Given the description of an element on the screen output the (x, y) to click on. 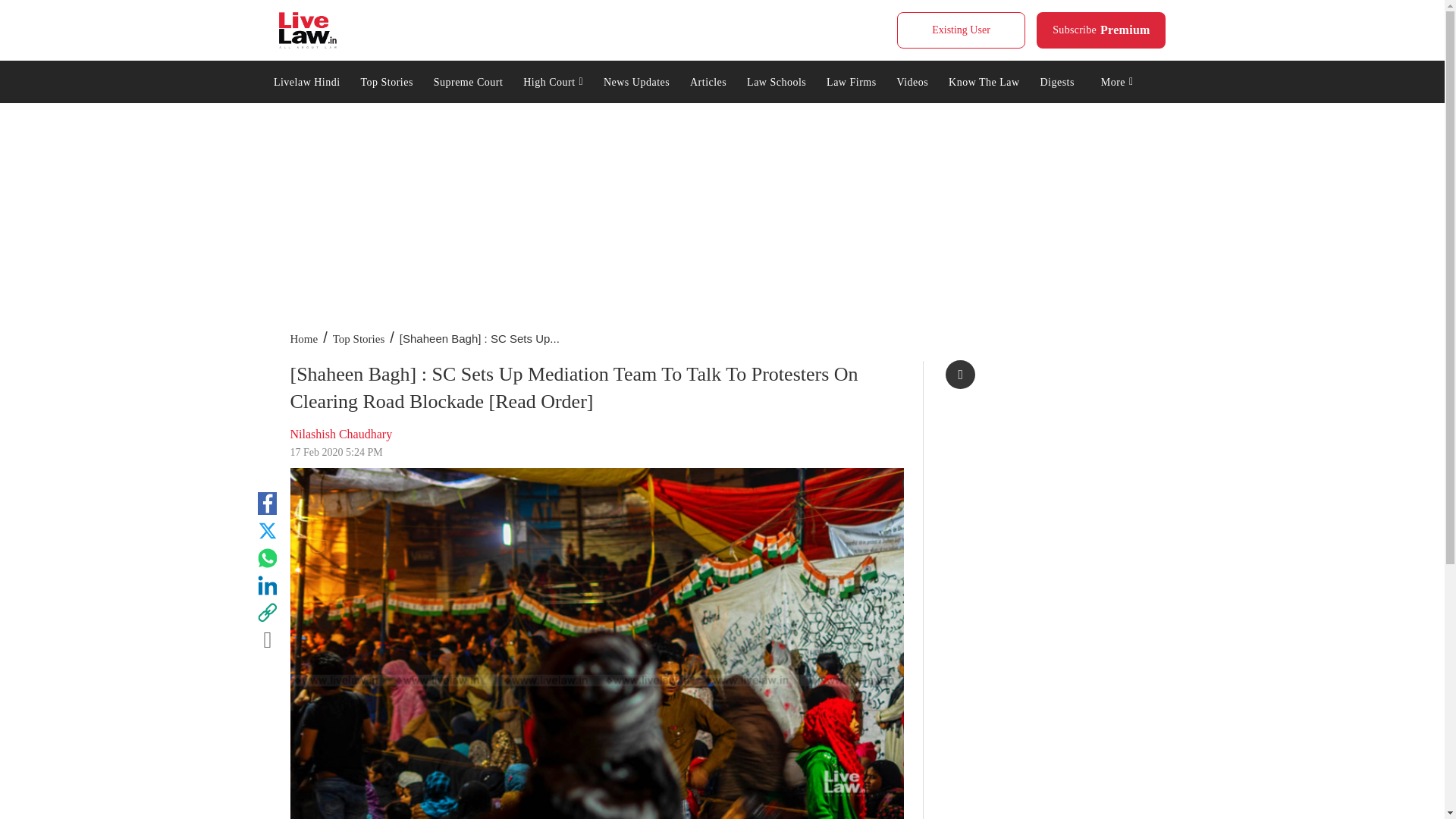
Livelaw Hindi (306, 80)
Top Stories (386, 80)
Live Law (307, 30)
High Court (553, 80)
Existing User (960, 30)
Supreme Court (1101, 30)
